Given the description of an element on the screen output the (x, y) to click on. 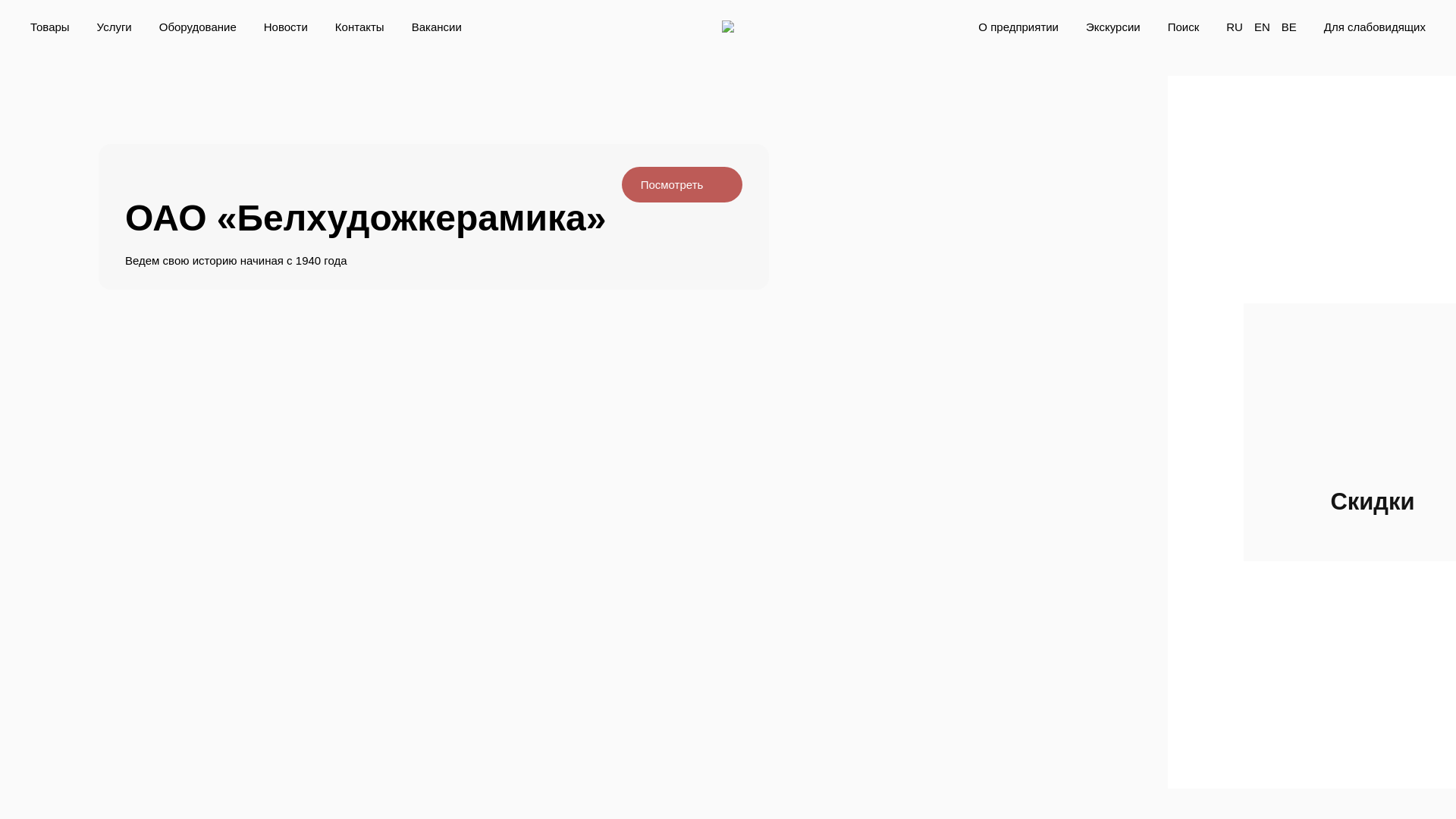
RU Element type: text (1234, 26)
EN Element type: text (1262, 26)
BE Element type: text (1288, 26)
